Given the description of an element on the screen output the (x, y) to click on. 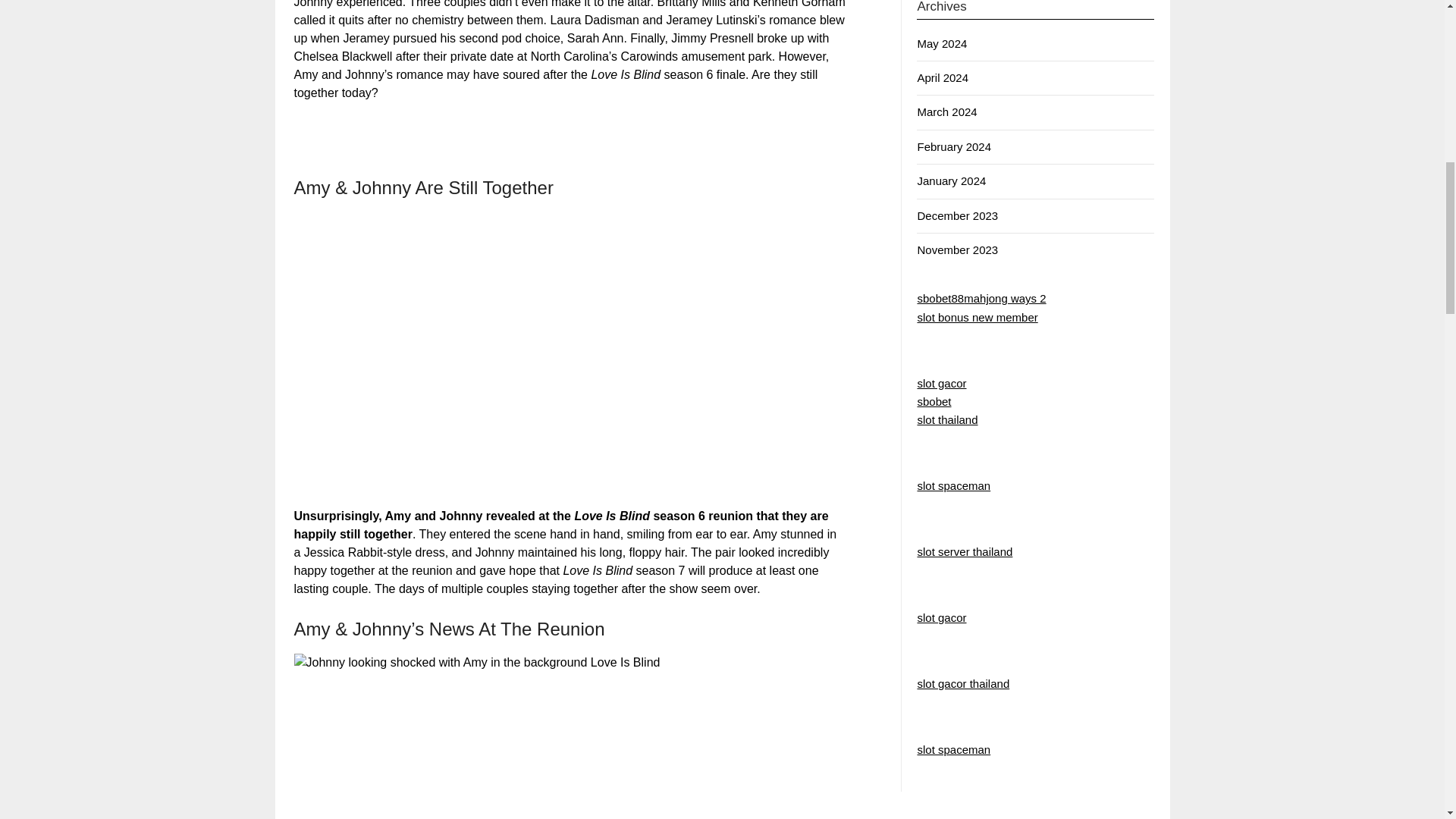
slot thailand (946, 419)
slot server thailand (964, 551)
February 2024 (954, 146)
slot gacor thailand (963, 683)
May 2024 (941, 42)
slot bonus new member (976, 317)
November 2023 (957, 249)
slot gacor (941, 617)
sbobet88 (940, 297)
April 2024 (942, 77)
March 2024 (946, 111)
sbobet (933, 400)
January 2024 (951, 180)
slot spaceman (953, 485)
slot gacor (941, 382)
